Given the description of an element on the screen output the (x, y) to click on. 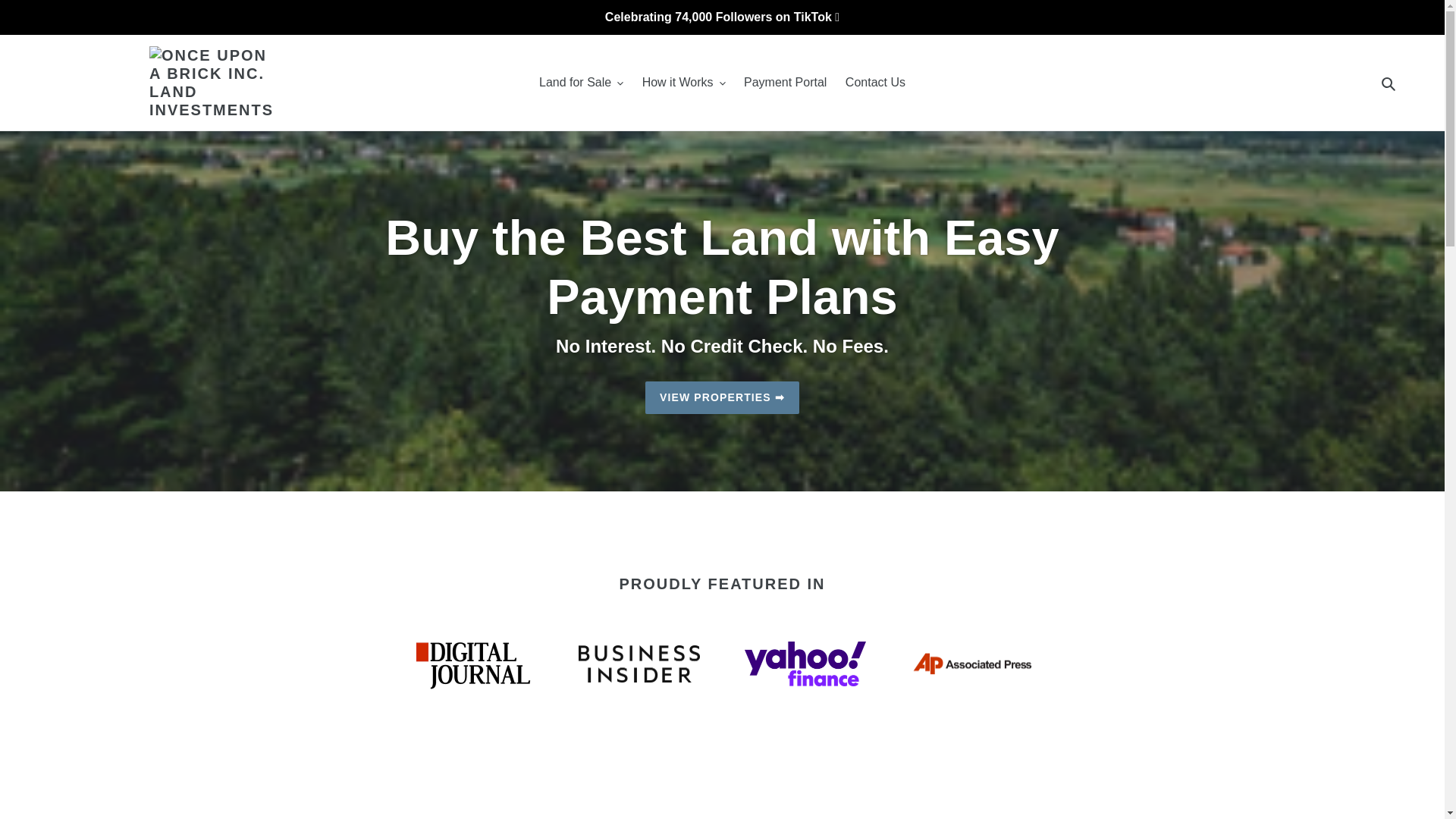
Payment Portal (785, 82)
Land for Sale (580, 82)
Search (1389, 82)
How it Works (683, 82)
Contact Us (875, 82)
